Given the description of an element on the screen output the (x, y) to click on. 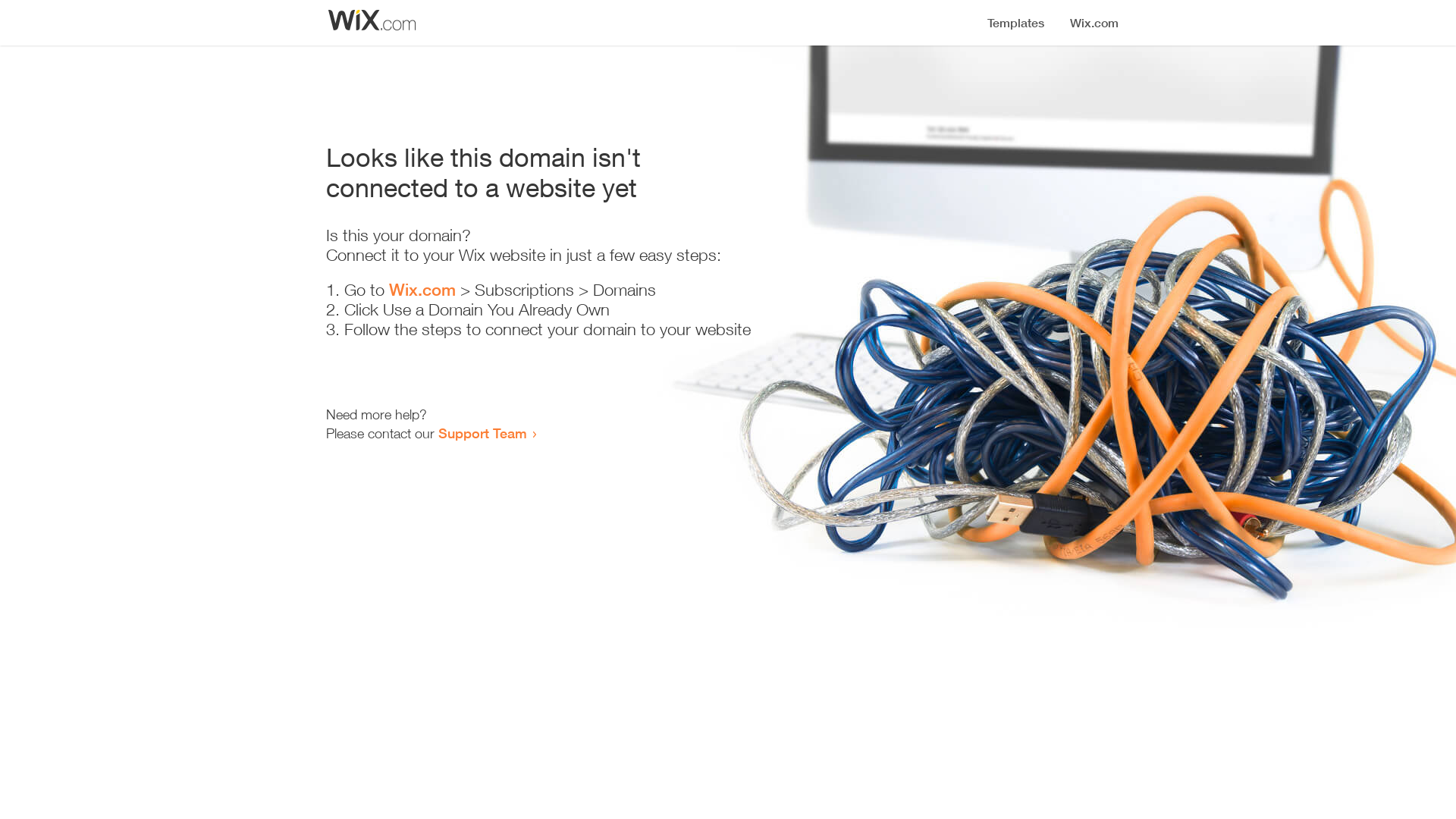
Wix.com Element type: text (422, 289)
Support Team Element type: text (482, 432)
